Given the description of an element on the screen output the (x, y) to click on. 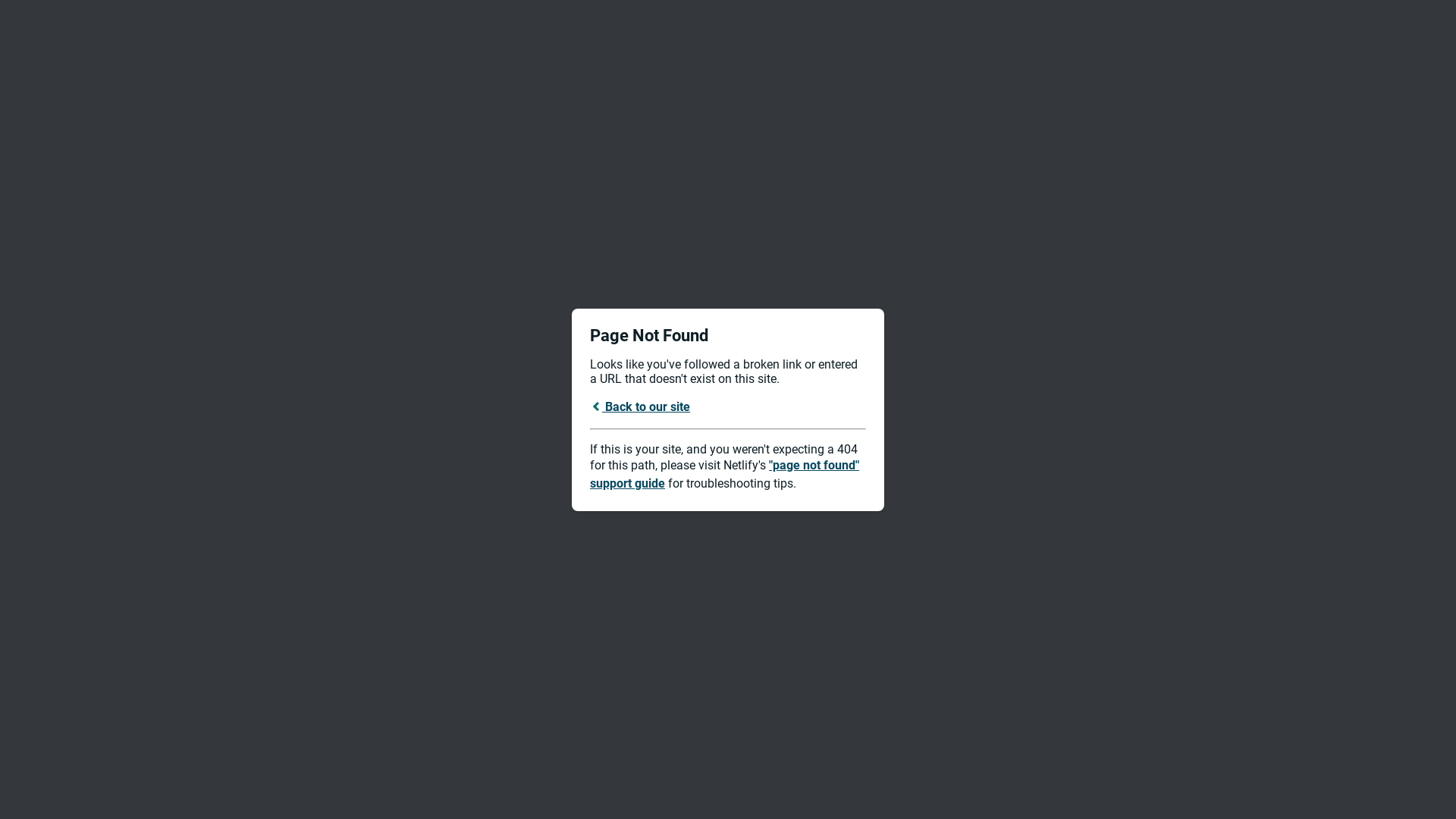
"page not found" support guide Element type: text (724, 474)
Back to our site Element type: text (639, 405)
